Given the description of an element on the screen output the (x, y) to click on. 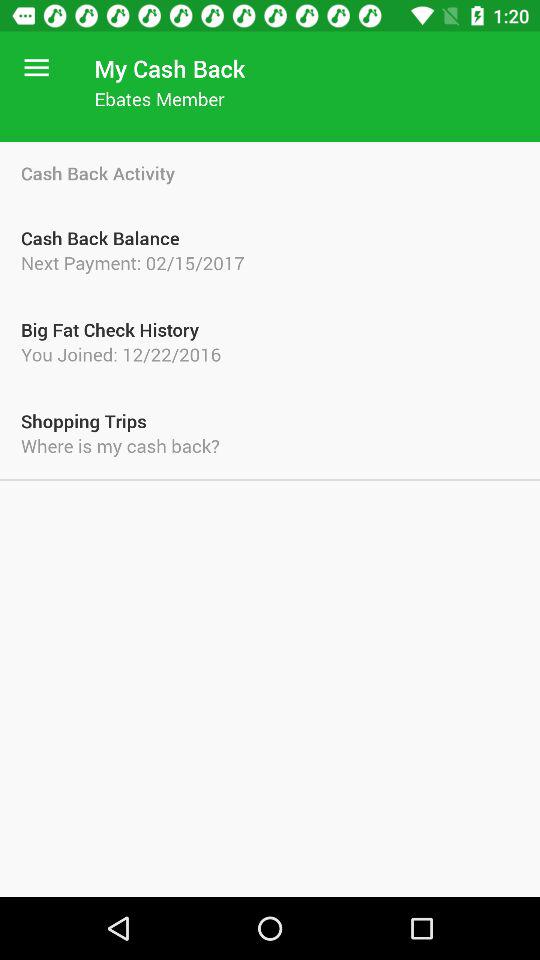
launch shopping trips (270, 420)
